Given the description of an element on the screen output the (x, y) to click on. 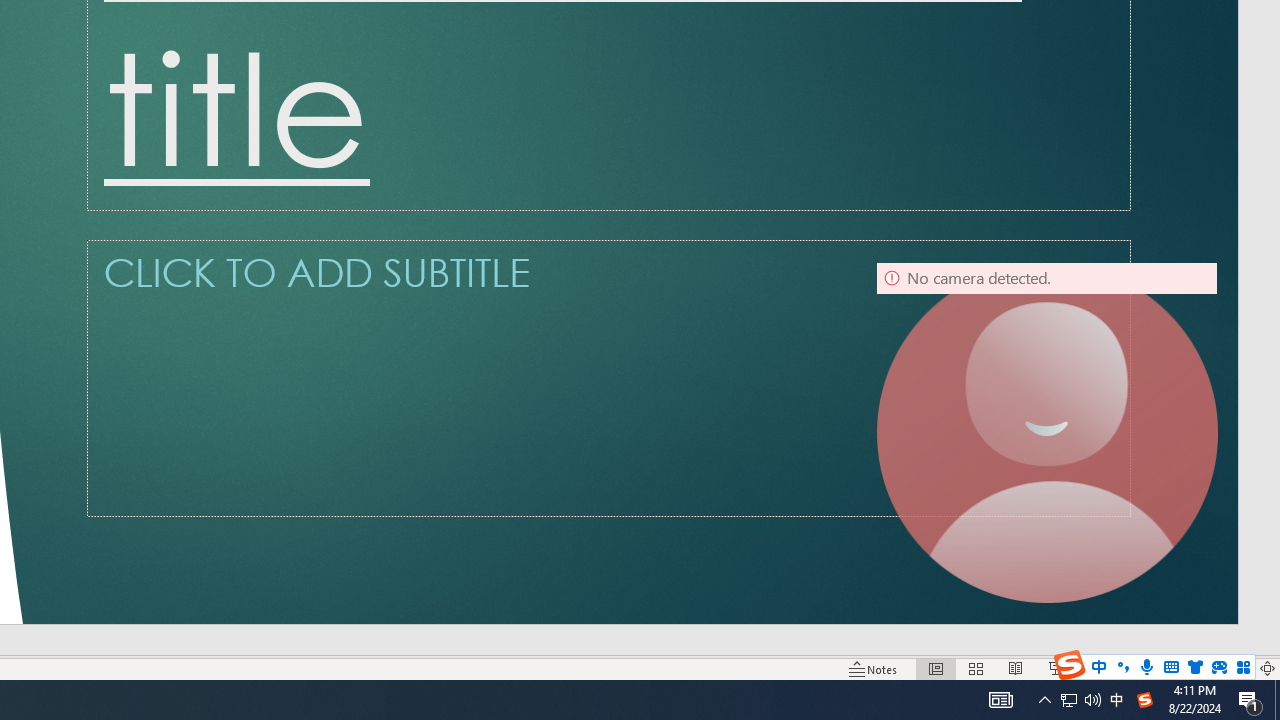
Zoom 161% (1234, 668)
